Given the description of an element on the screen output the (x, y) to click on. 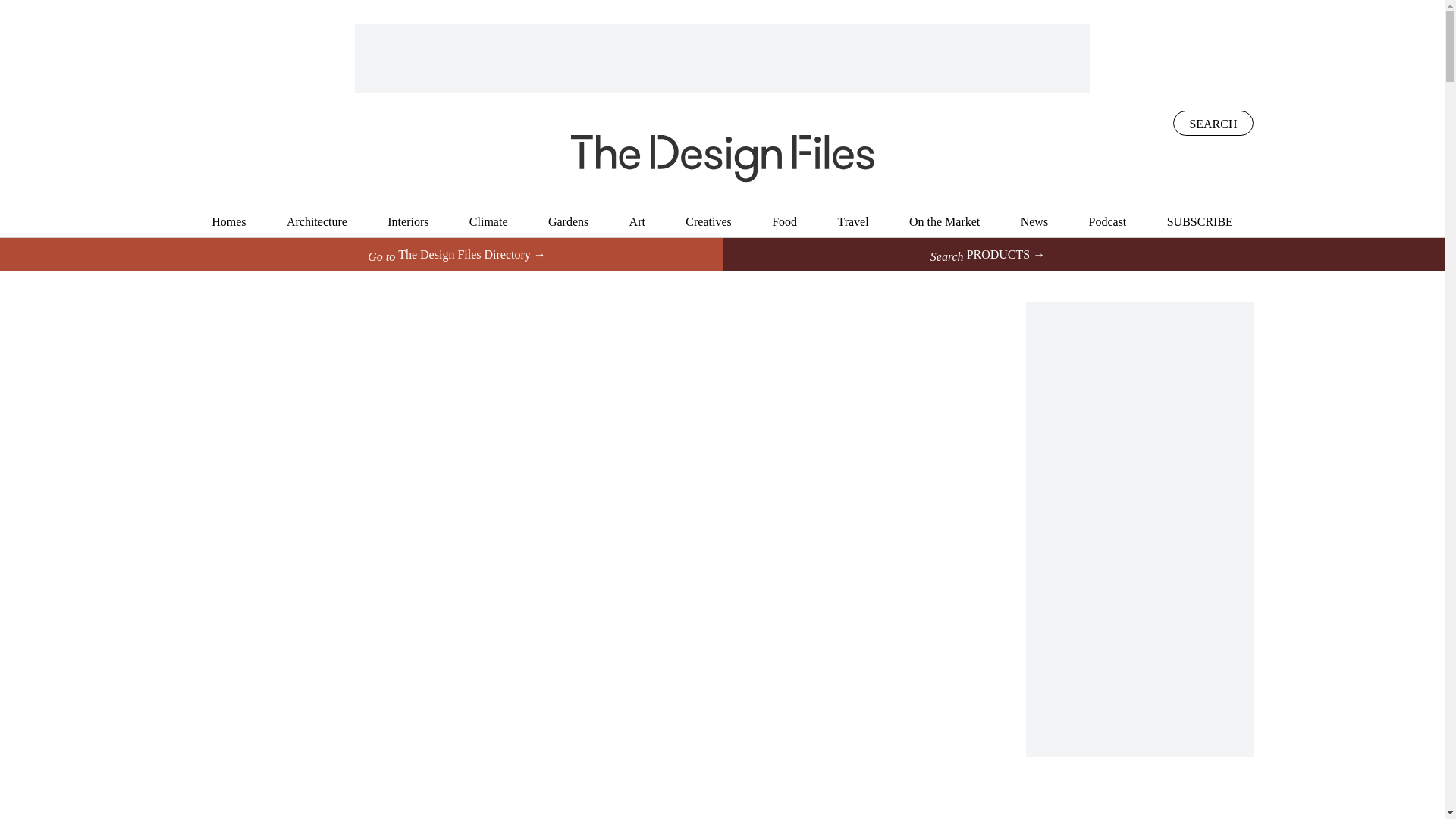
Creatives (707, 221)
SUBSCRIBE (1200, 221)
Interiors (407, 221)
Architecture (316, 221)
Travel (852, 221)
Climate (488, 221)
SEARCH (1212, 122)
Homes (228, 221)
Gardens (568, 221)
Food (783, 221)
